Given the description of an element on the screen output the (x, y) to click on. 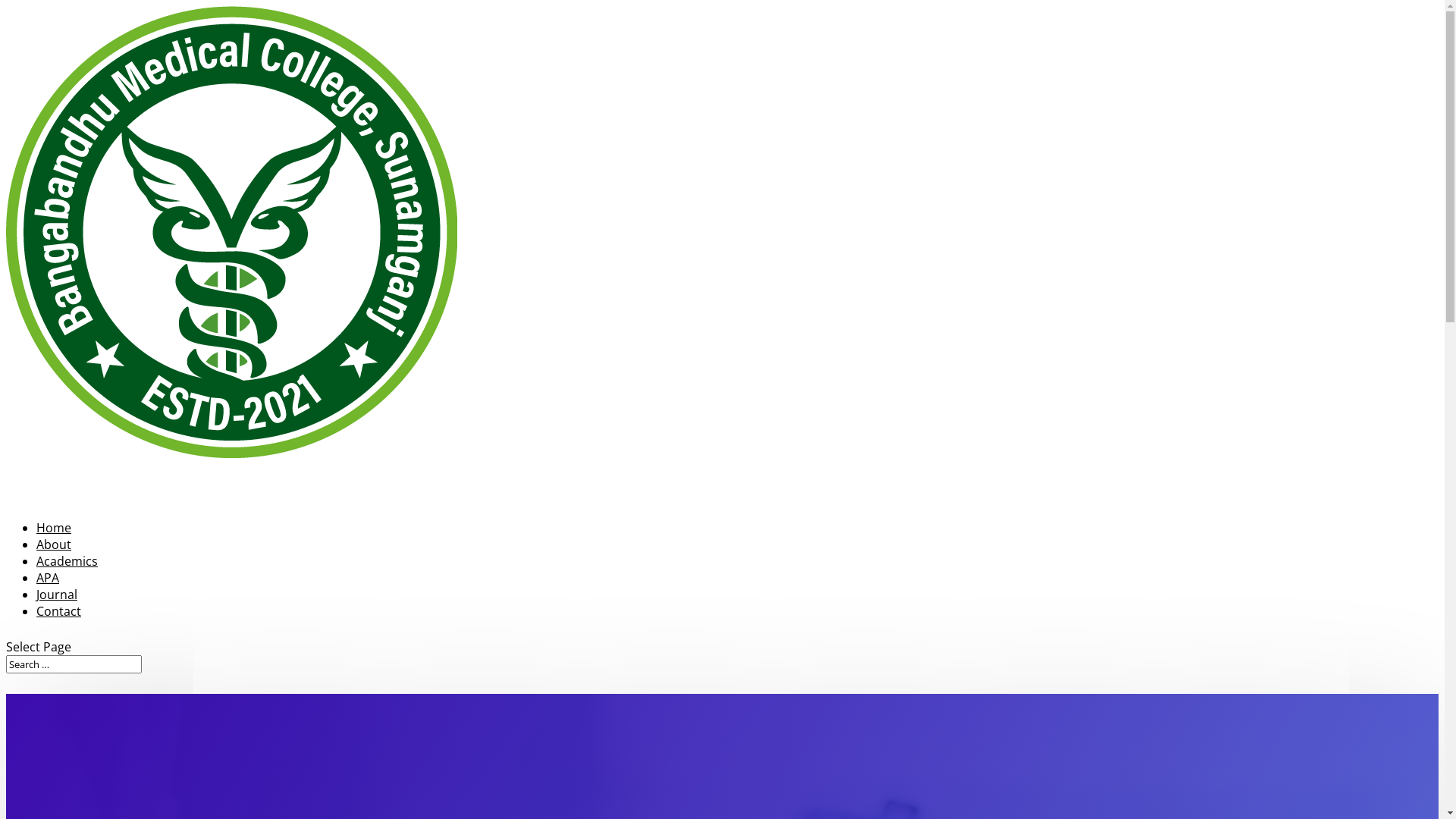
Journal Element type: text (56, 617)
Home Element type: text (53, 550)
Search for: Element type: hover (73, 664)
Contact Element type: text (58, 633)
APA Element type: text (47, 600)
Academics Element type: text (66, 583)
About Element type: text (53, 567)
